Given the description of an element on the screen output the (x, y) to click on. 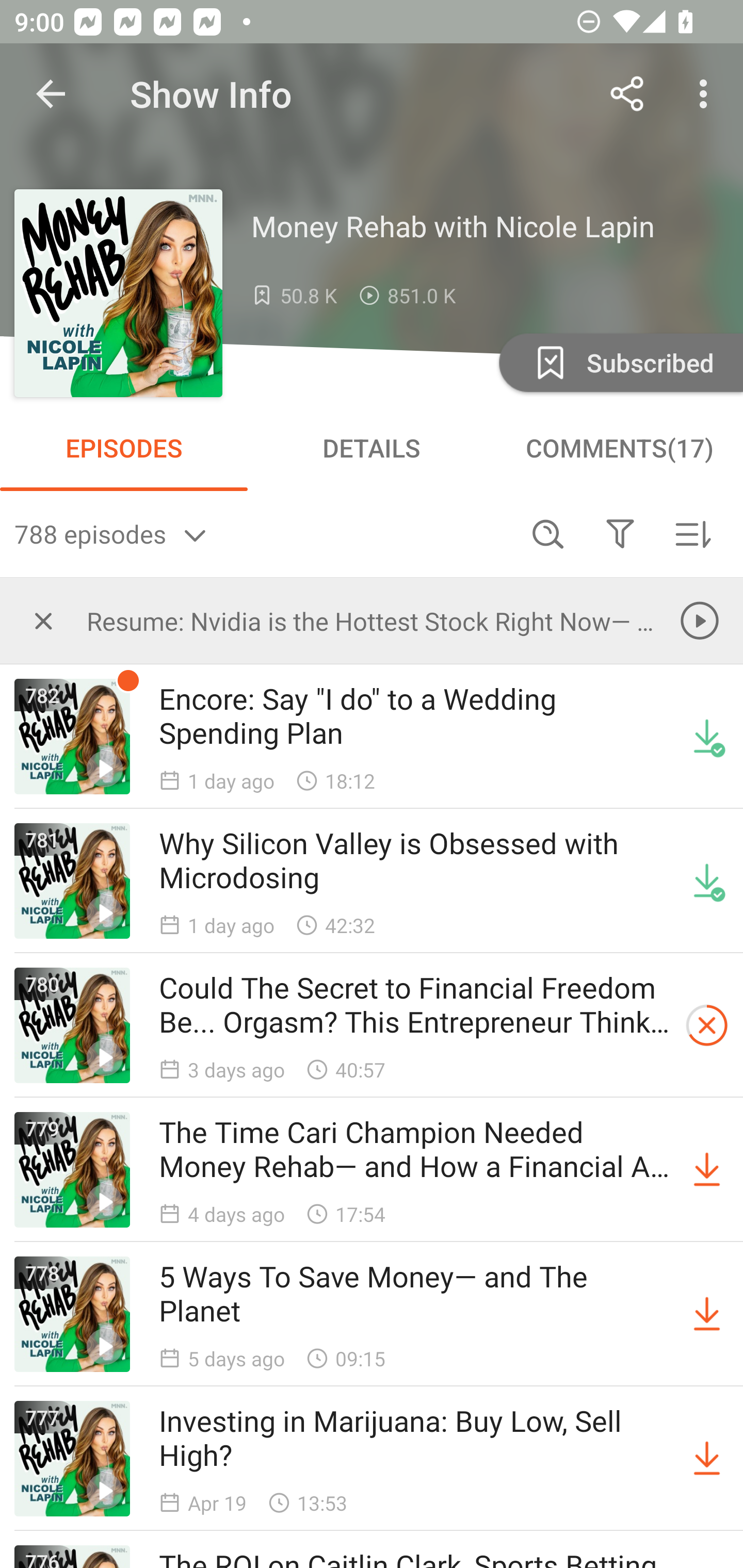
Navigate up (50, 93)
Share (626, 93)
More options (706, 93)
Unsubscribe Subscribed (619, 361)
EPISODES (123, 447)
DETAILS (371, 447)
COMMENTS(17) (619, 447)
788 episodes  (262, 533)
 Search (547, 533)
 (619, 533)
 Sorted by newest first (692, 533)
 (43, 620)
Downloaded (706, 736)
Downloaded (706, 881)
Cancel Downloading (706, 1025)
Download (706, 1169)
Download (706, 1313)
Download (706, 1458)
